Given the description of an element on the screen output the (x, y) to click on. 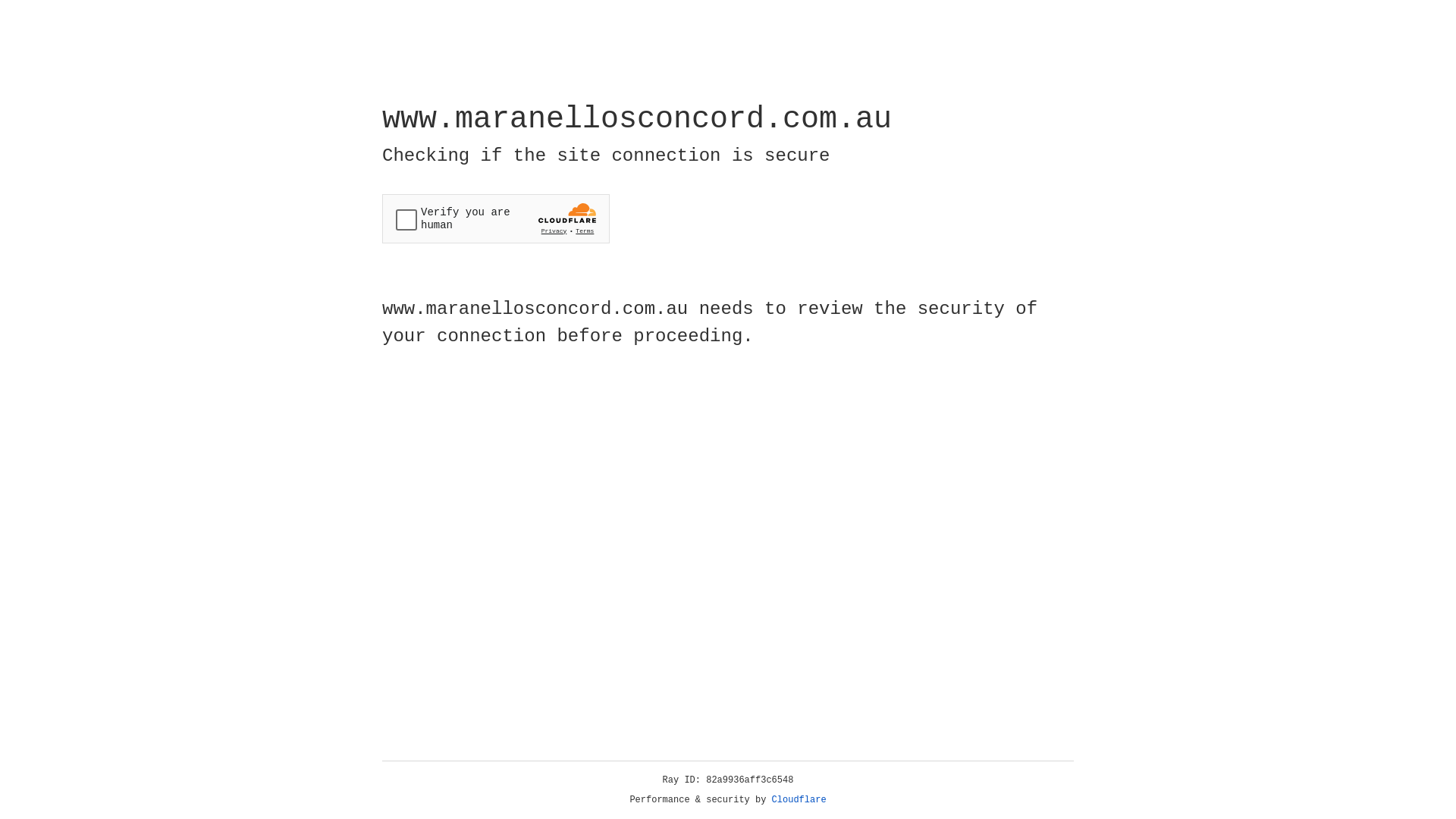
Widget containing a Cloudflare security challenge Element type: hover (495, 218)
Cloudflare Element type: text (798, 799)
